Given the description of an element on the screen output the (x, y) to click on. 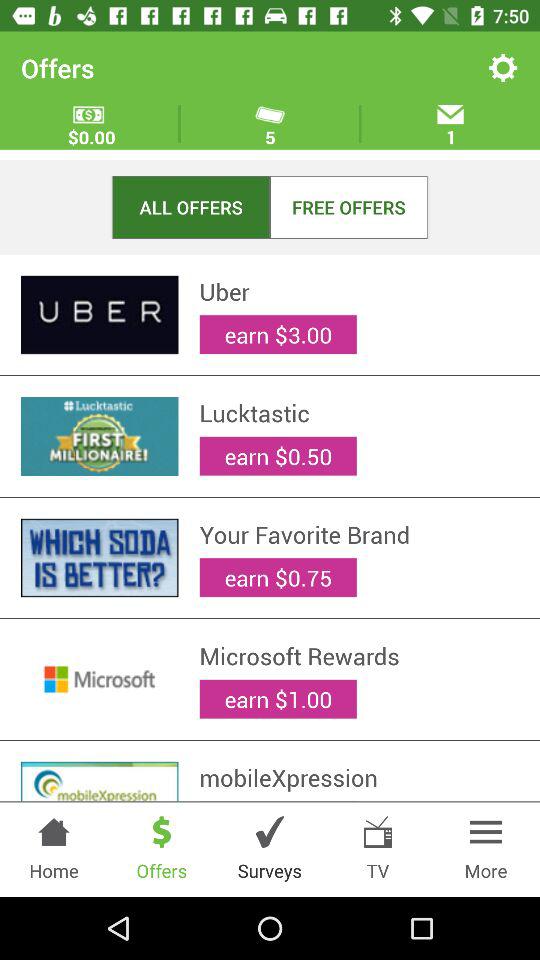
launch the item above earn $3.00 item (359, 291)
